Given the description of an element on the screen output the (x, y) to click on. 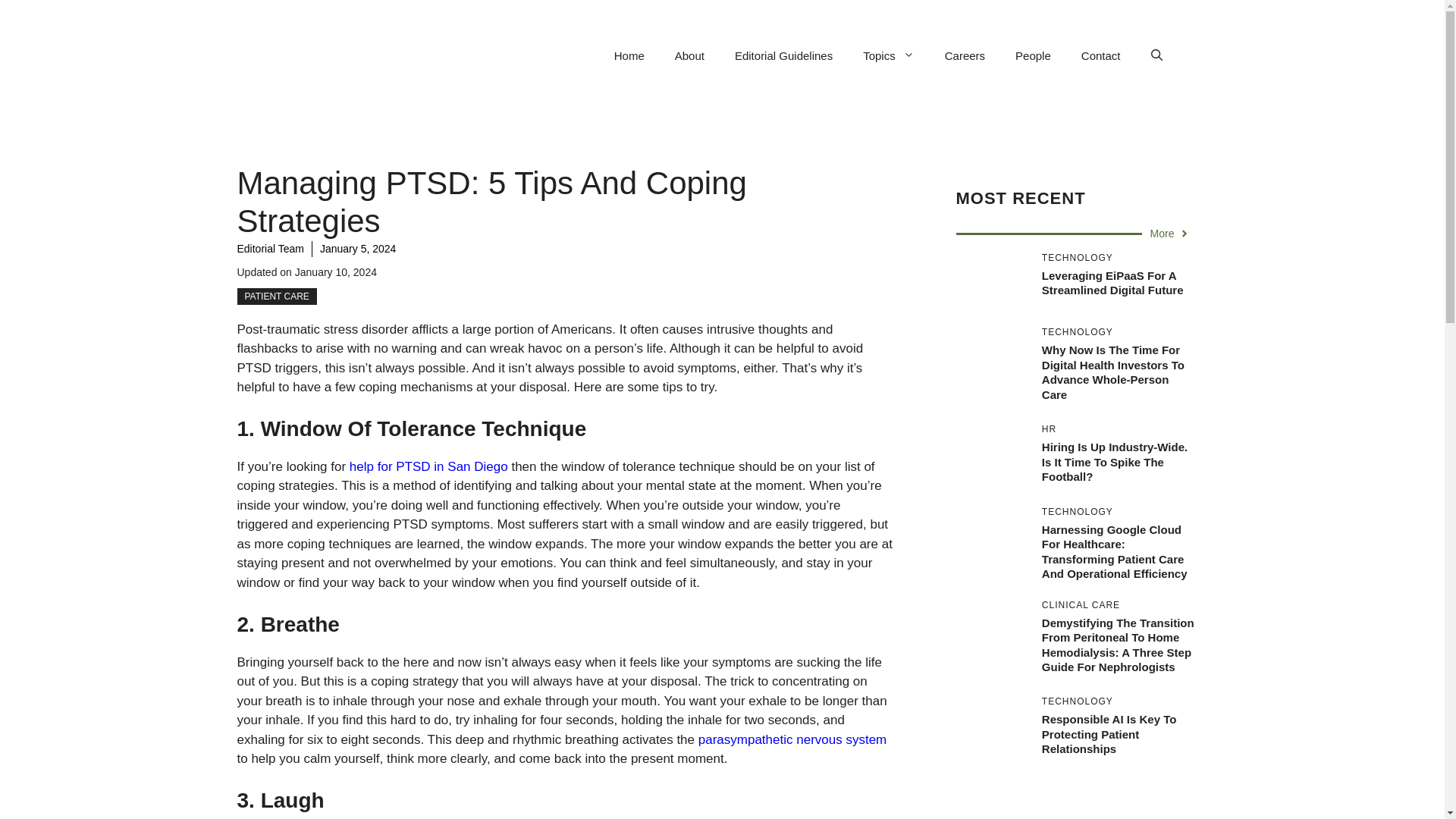
help for PTSD in San Diego (428, 466)
Contact (1100, 55)
parasympathetic nervous system (792, 739)
More (1170, 233)
PATIENT CARE (275, 296)
Home (628, 55)
Careers (965, 55)
Topics (888, 55)
Leveraging EiPaaS For A Streamlined Digital Future (1112, 283)
Editorial Team (268, 248)
